Given the description of an element on the screen output the (x, y) to click on. 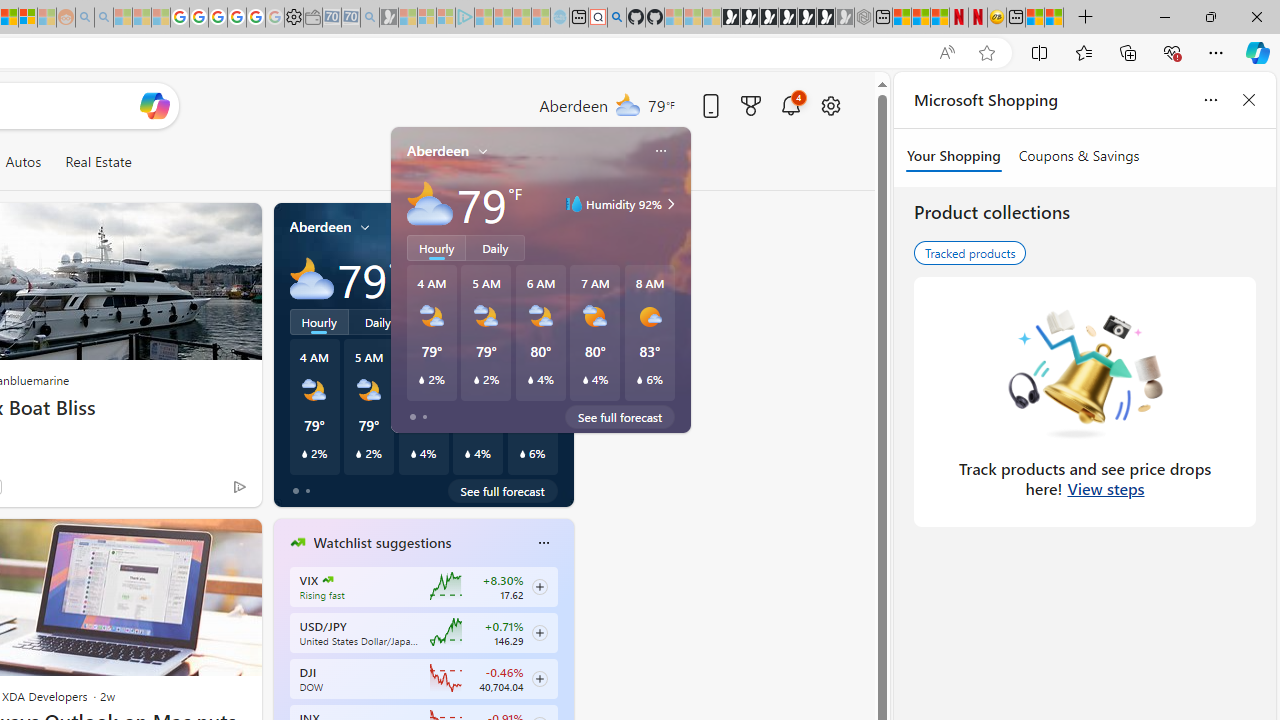
Mostly cloudy (311, 278)
See full forecast (502, 490)
Class: follow-button  m (539, 678)
